Given the description of an element on the screen output the (x, y) to click on. 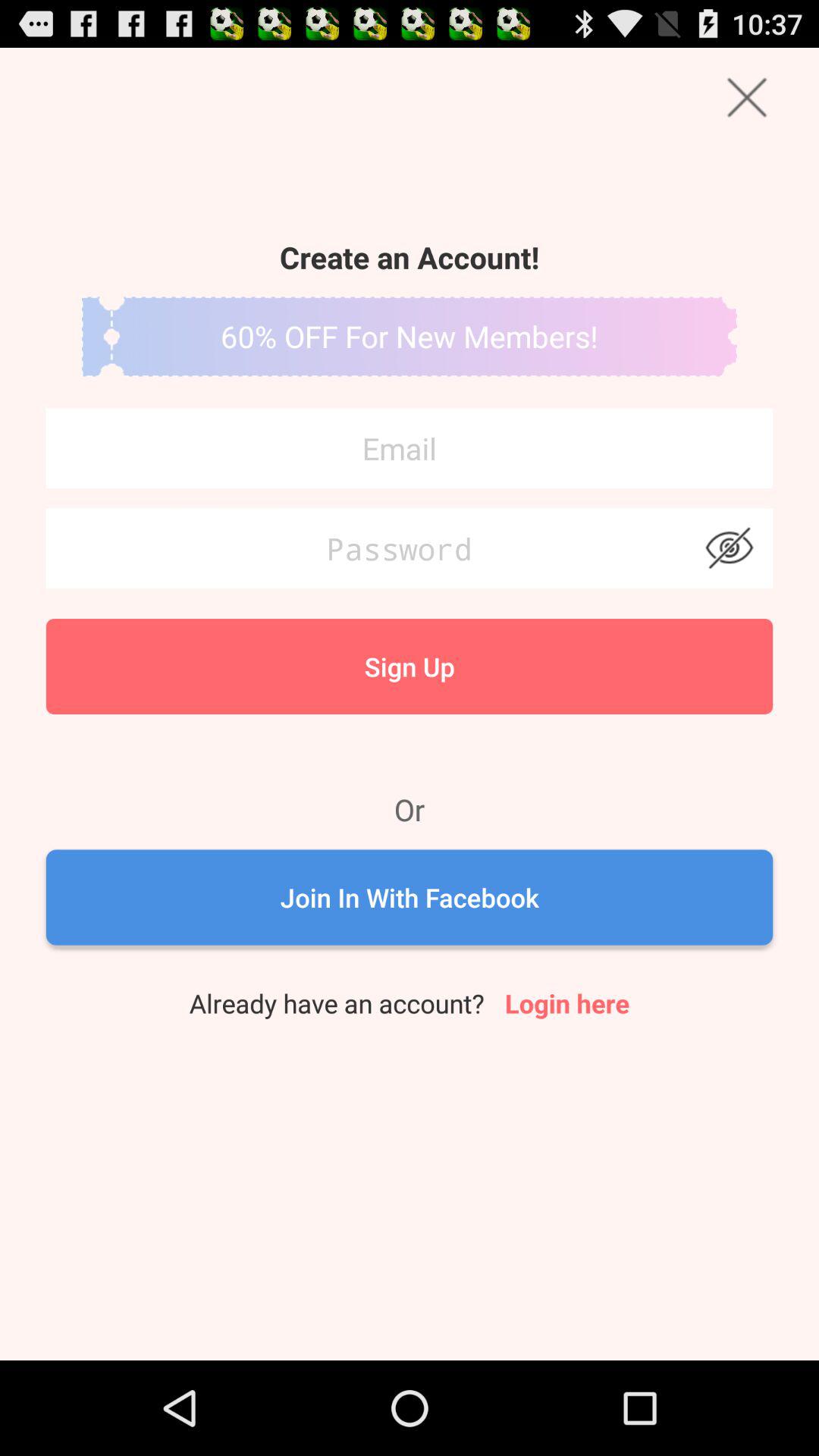
email address (409, 448)
